Given the description of an element on the screen output the (x, y) to click on. 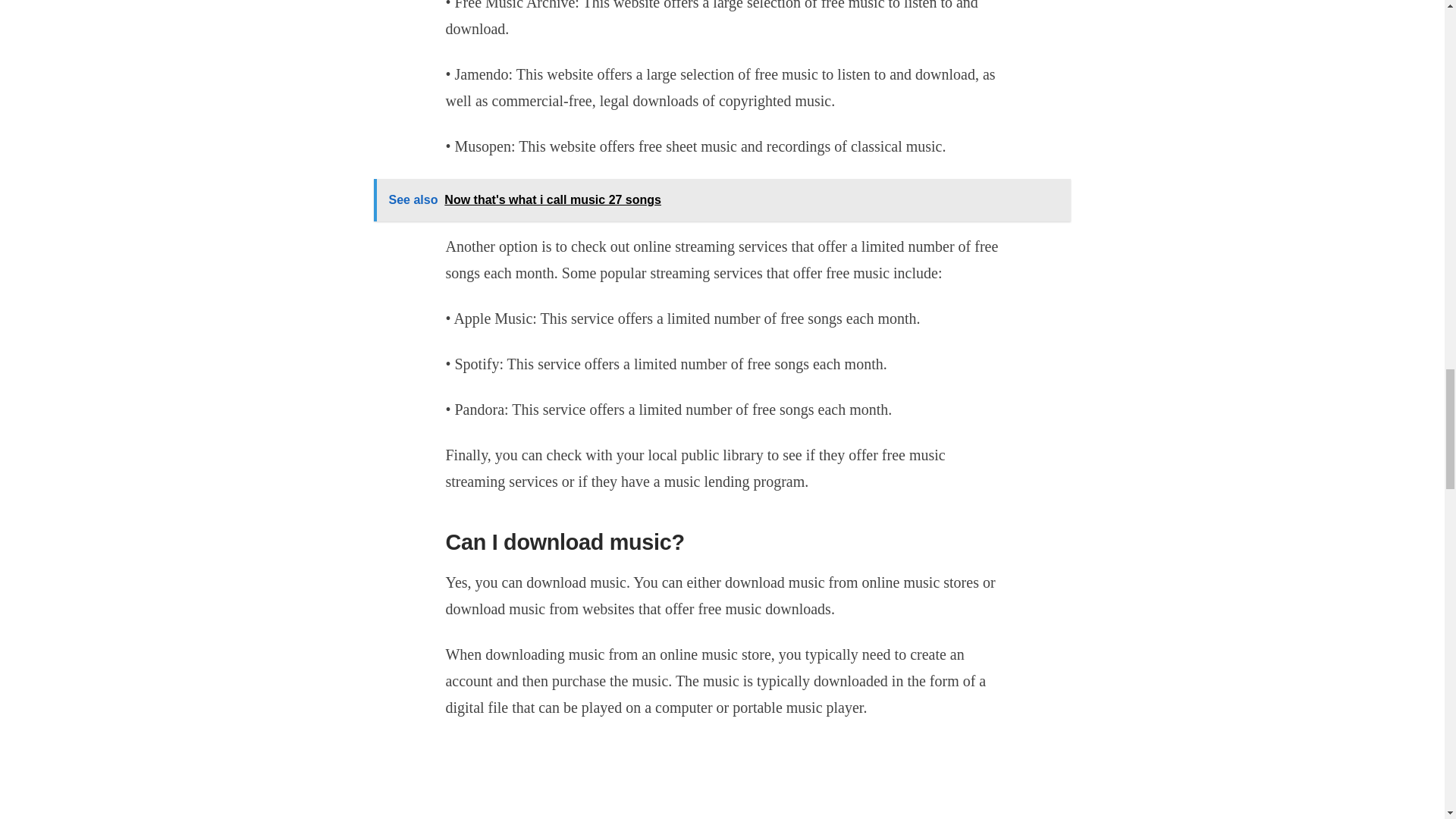
See also  Now that's what i call music 27 songs (721, 200)
